Given the description of an element on the screen output the (x, y) to click on. 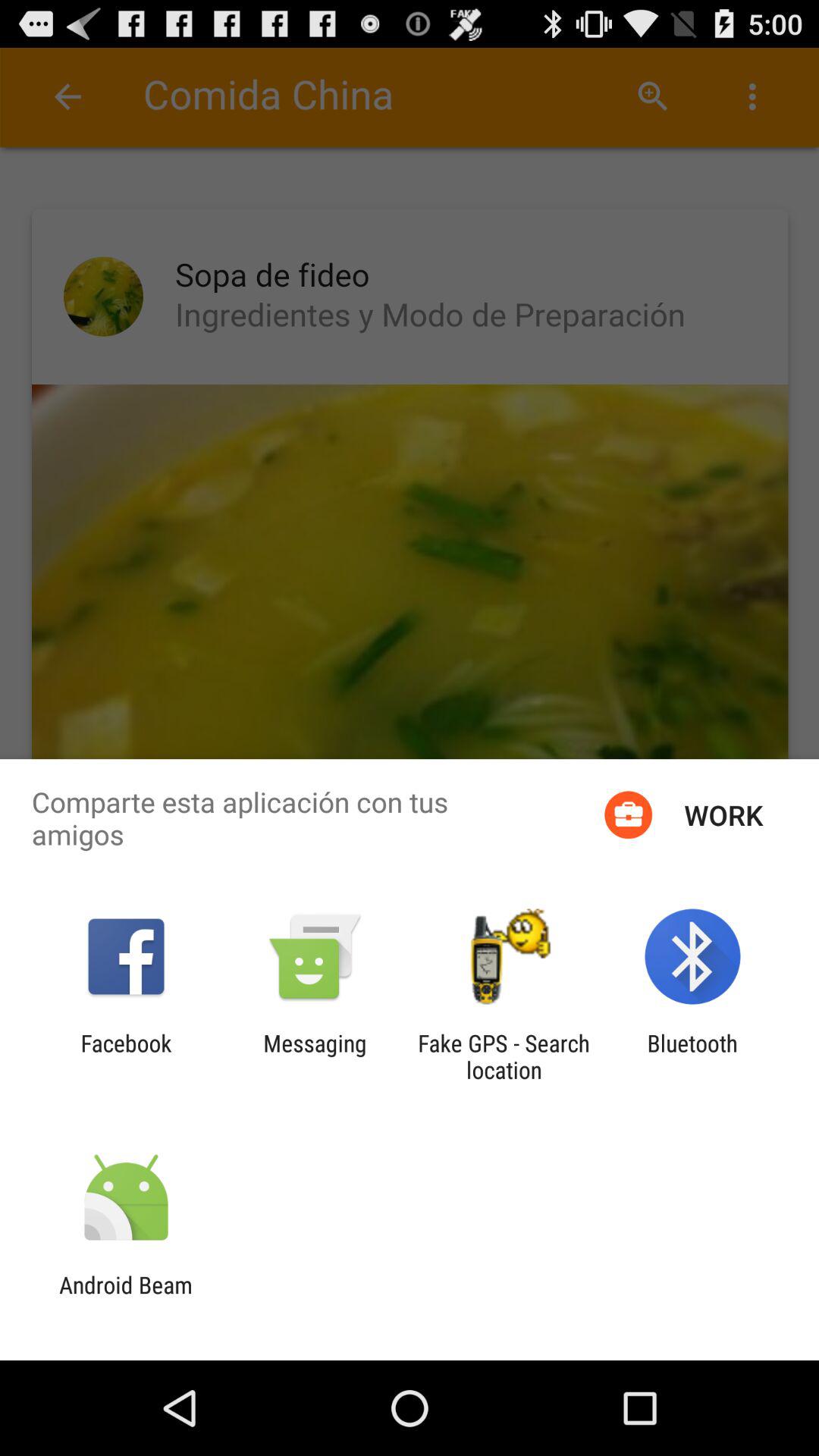
select app next to the fake gps search app (692, 1056)
